Given the description of an element on the screen output the (x, y) to click on. 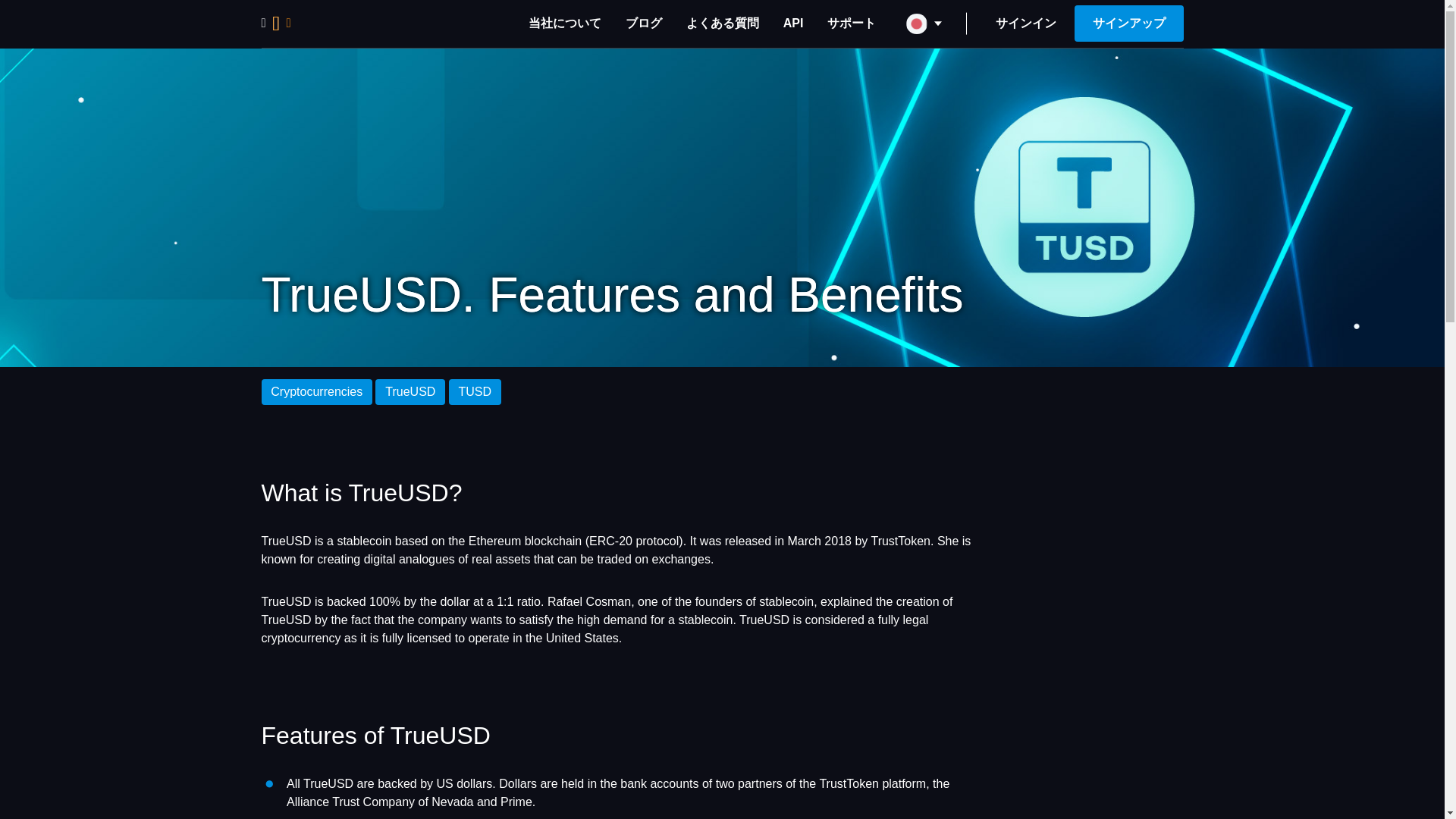
Cryptocurrencies (316, 391)
TUSD (474, 391)
TrueUSD (410, 391)
API (793, 23)
